Given the description of an element on the screen output the (x, y) to click on. 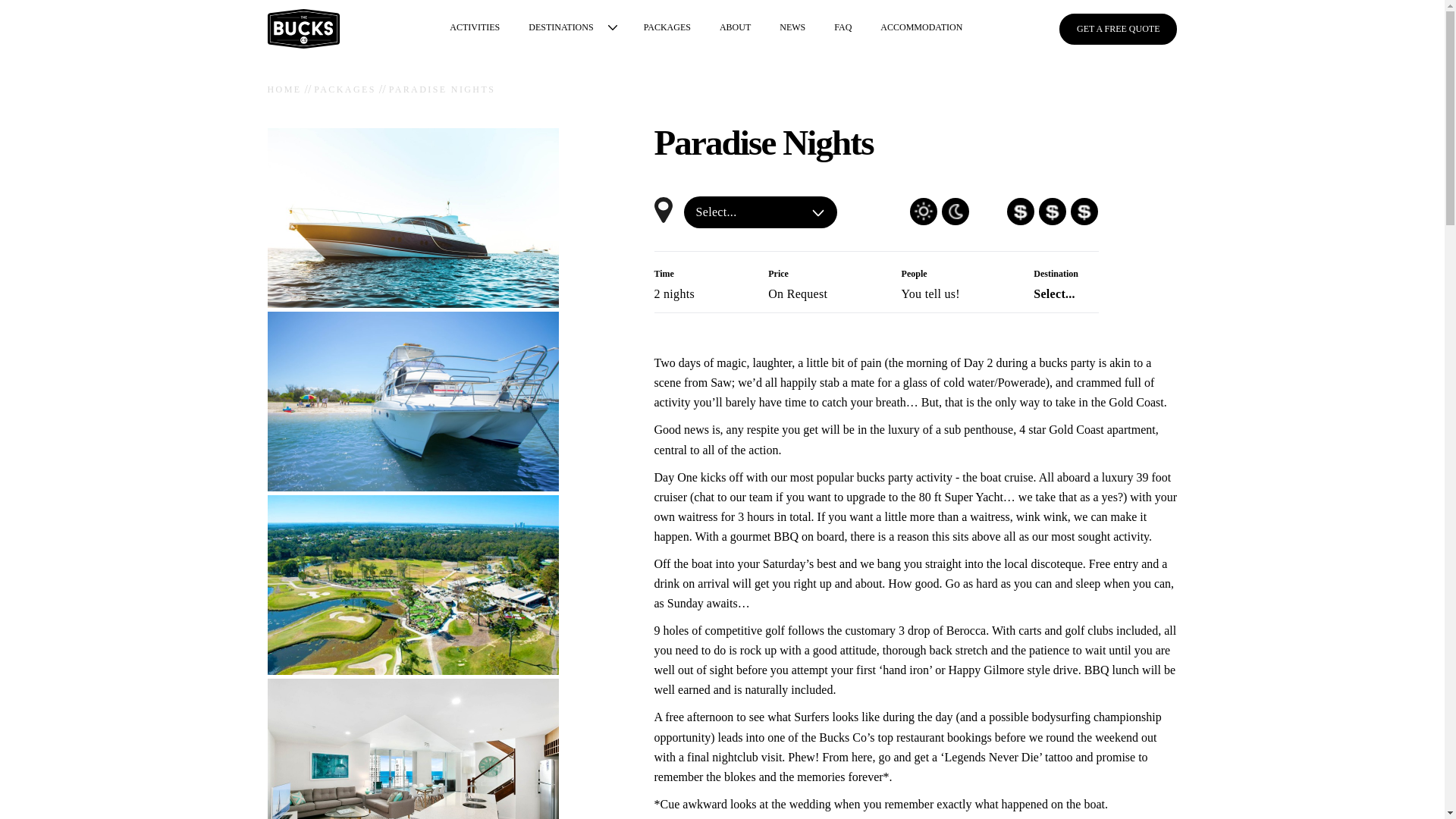
Accommodation (921, 29)
Packages (666, 29)
DESTINATIONS (560, 29)
NEWS (792, 29)
ABOUT (734, 29)
News (792, 29)
ACCOMMODATION (921, 29)
FAQ (842, 29)
About (734, 29)
GET A FREE QUOTE (1117, 29)
PACKAGES (666, 29)
Destinations (560, 29)
Activities (474, 29)
ACTIVITIES (474, 29)
FAQ (842, 29)
